Given the description of an element on the screen output the (x, y) to click on. 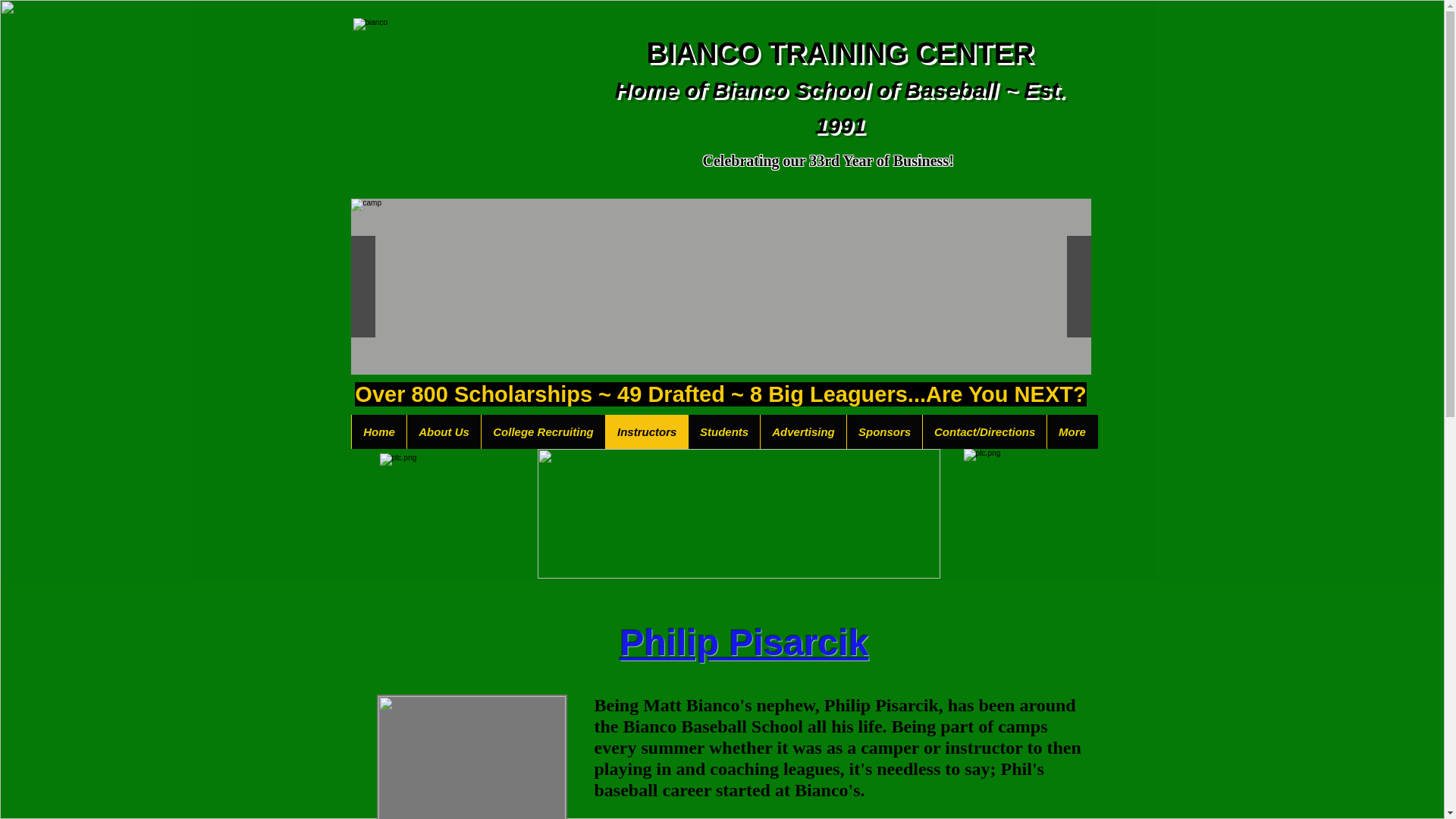
About Us (443, 431)
Screen Shot 2023-05-04 at 5.27.04 PM.png (738, 513)
College Recruiting (542, 431)
Home (378, 431)
Advertising (802, 431)
Sponsors (883, 431)
Instructors (646, 431)
Students (723, 431)
philip.jpg (470, 756)
